Given the description of an element on the screen output the (x, y) to click on. 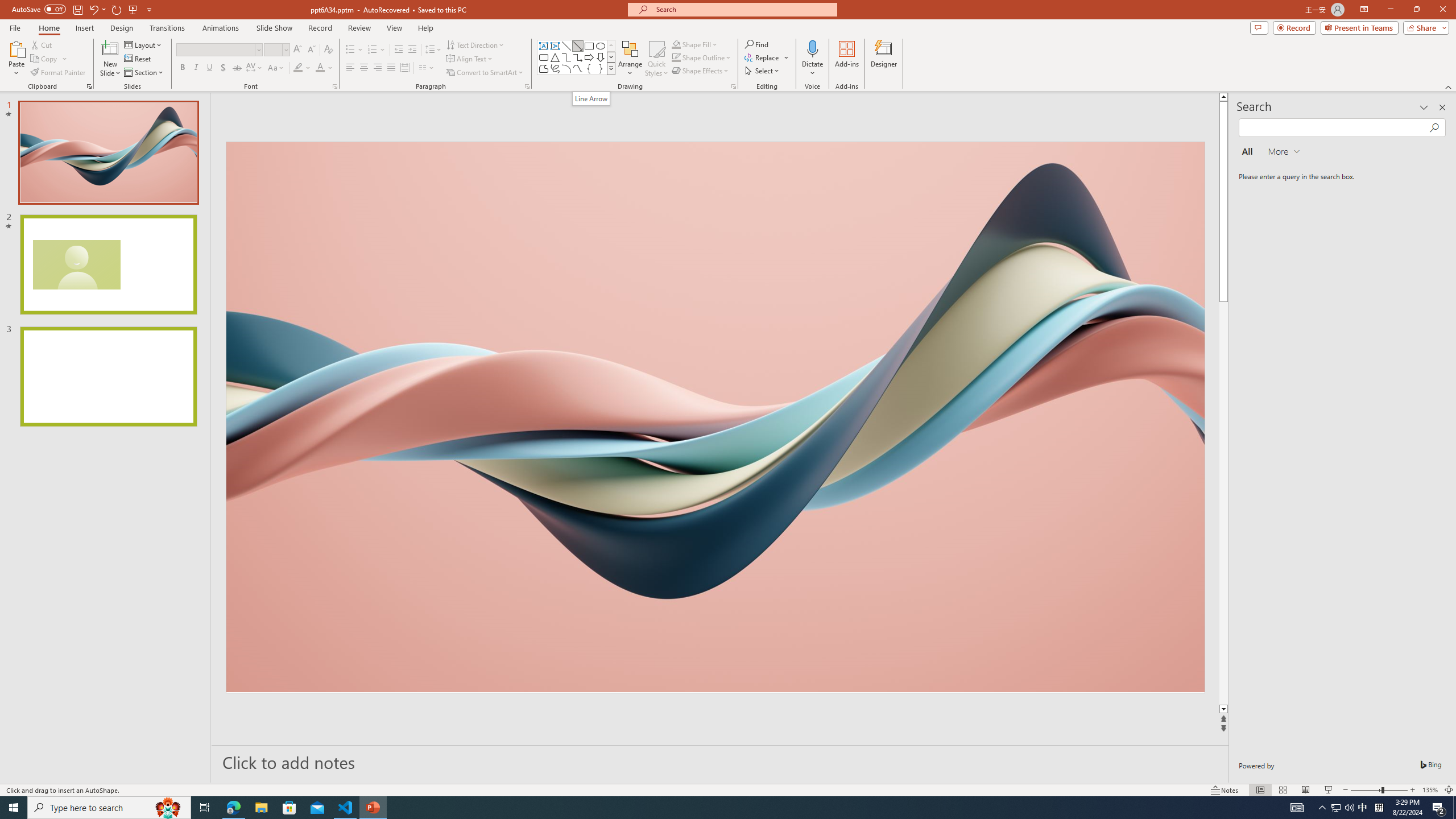
Line down (1223, 709)
Shadow (223, 67)
Copy (45, 58)
Change Case (276, 67)
Paste (16, 48)
Cut (42, 44)
Task Pane Options (1423, 107)
Shapes (611, 68)
Slide (108, 376)
